Given the description of an element on the screen output the (x, y) to click on. 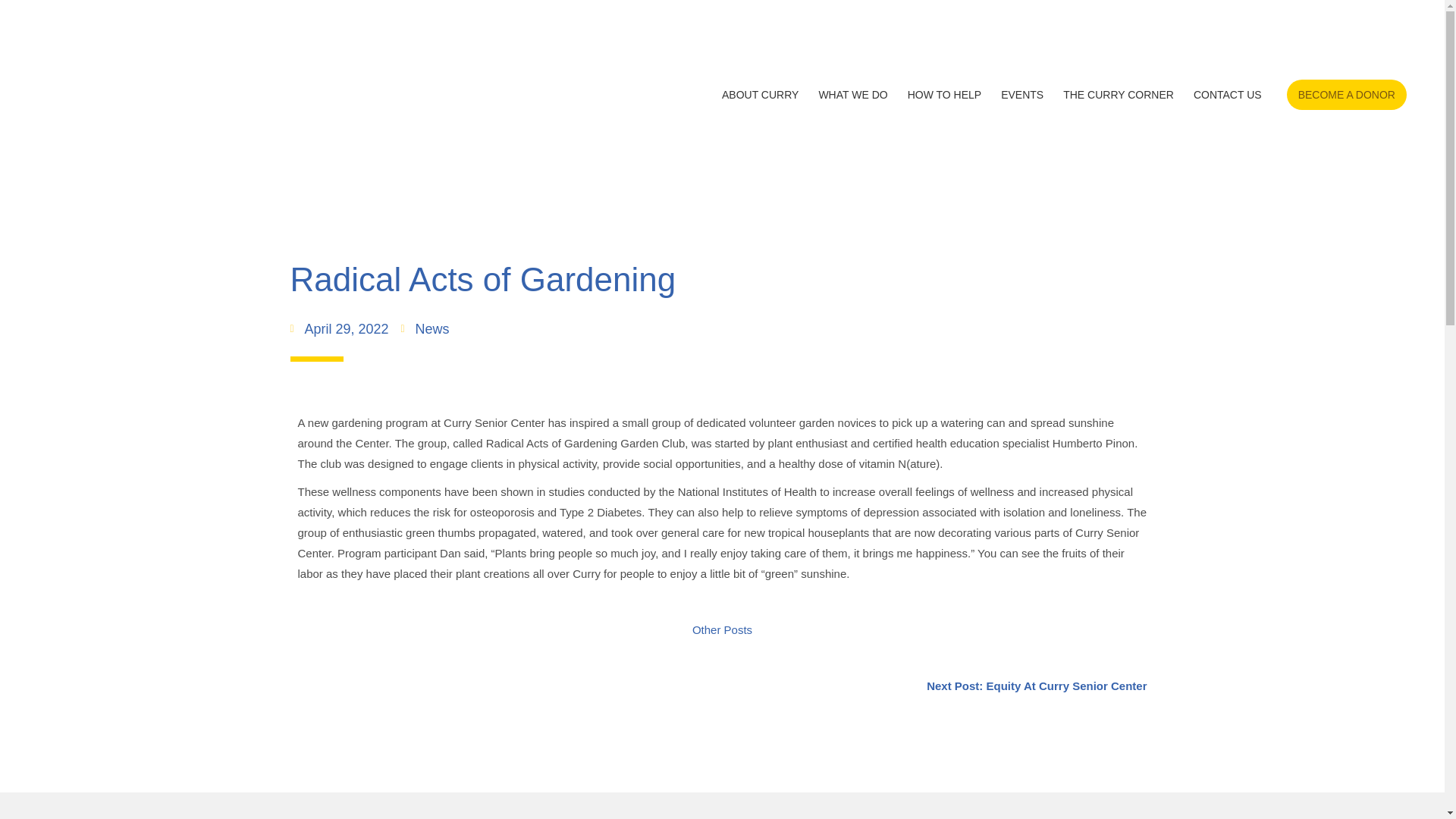
WHAT WE DO (852, 94)
ABOUT CURRY (759, 94)
EVENTS (1021, 94)
BECOME A DONOR (1346, 94)
THE CURRY CORNER (1117, 94)
HOW TO HELP (944, 94)
CONTACT US (1227, 94)
